Given the description of an element on the screen output the (x, y) to click on. 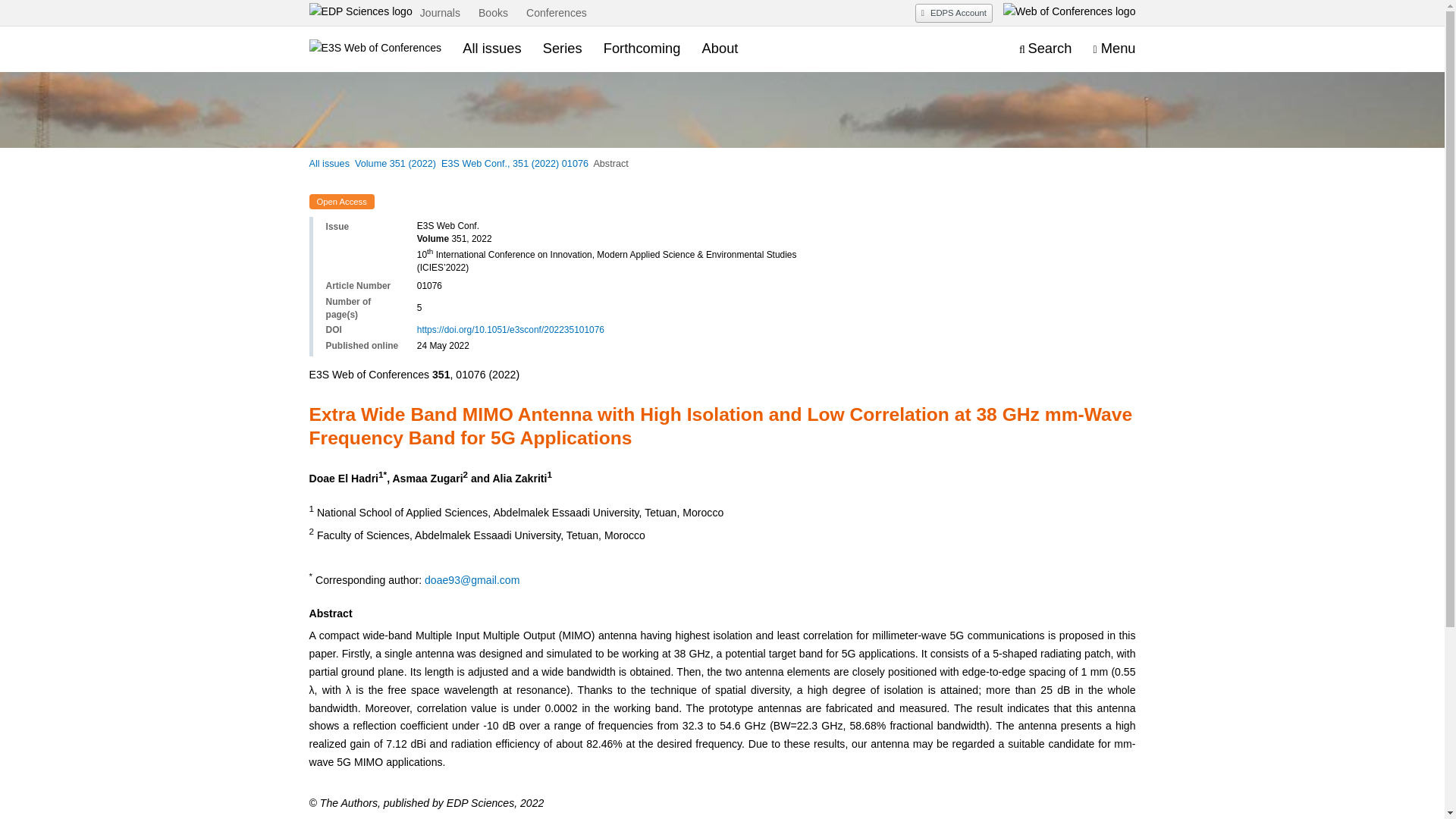
Journal homepage (375, 48)
Conferences (556, 13)
All issues (492, 48)
Forthcoming (642, 48)
Books (493, 13)
Series (562, 48)
Menu (1114, 48)
Journals (440, 13)
All issues (328, 163)
Display the search engine (1045, 48)
About (719, 48)
